Given the description of an element on the screen output the (x, y) to click on. 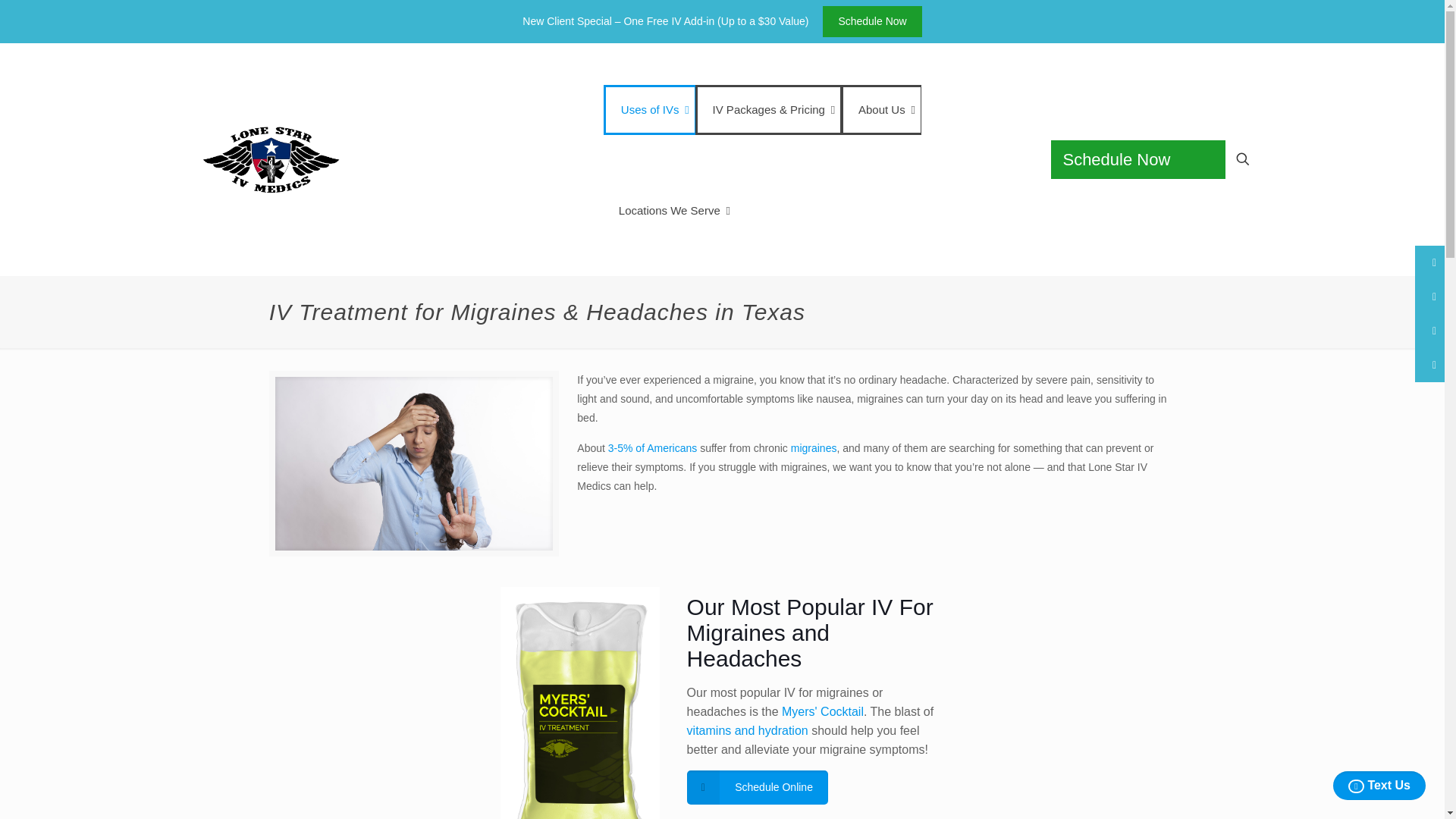
Lone Star IV Medics (306, 158)
Locations We Serve (669, 210)
Schedule Now (871, 20)
Uses of IVs (649, 109)
